Given the description of an element on the screen output the (x, y) to click on. 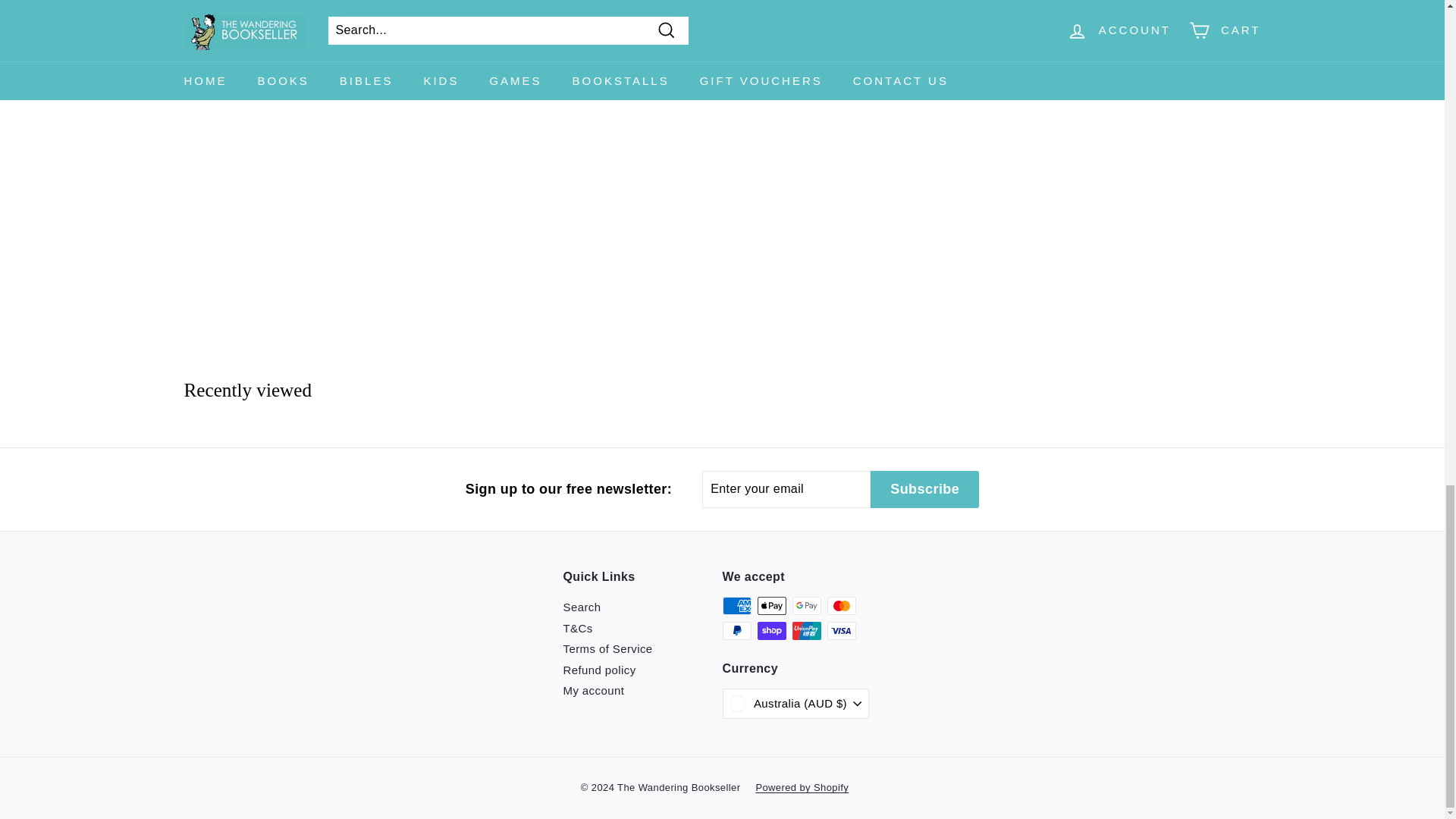
Union Pay (806, 630)
PayPal (736, 630)
American Express (736, 606)
Mastercard (841, 606)
Visa (841, 630)
Apple Pay (771, 606)
Shop Pay (771, 630)
Google Pay (806, 606)
